Given the description of an element on the screen output the (x, y) to click on. 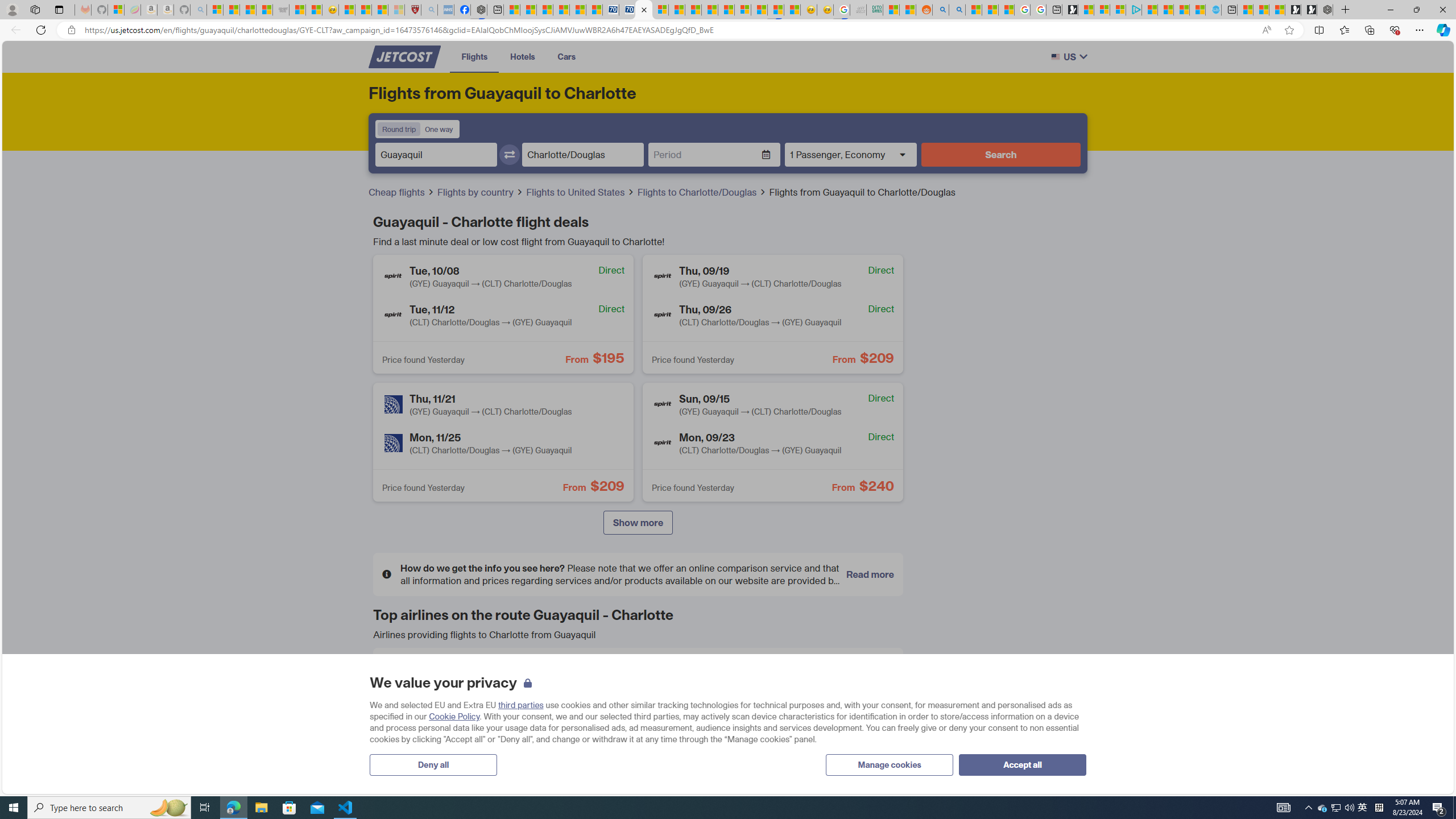
Accept all (1022, 764)
Cheap Hotels - Save70.com (627, 9)
United (400, 756)
Hotels (522, 56)
Period (705, 154)
